Given the description of an element on the screen output the (x, y) to click on. 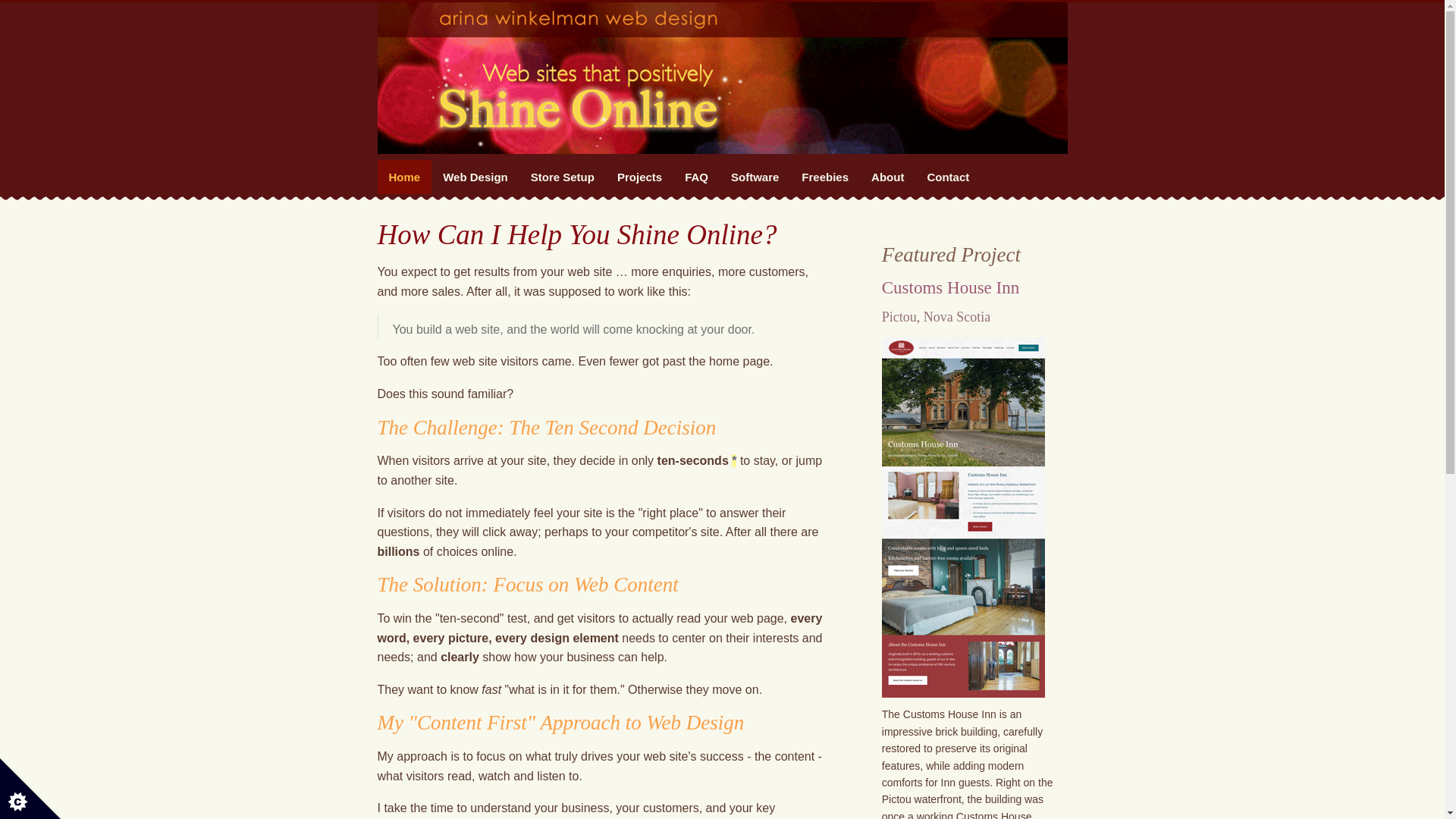
Web Design Element type: text (475, 177)
Home Element type: text (404, 177)
* Element type: text (733, 460)
Software Element type: text (754, 177)
FAQ Element type: text (696, 177)
Contact Element type: text (947, 177)
Store Setup Element type: text (562, 177)
Freebies Element type: text (824, 177)
Projects Element type: text (639, 177)
About Element type: text (887, 177)
